Given the description of an element on the screen output the (x, y) to click on. 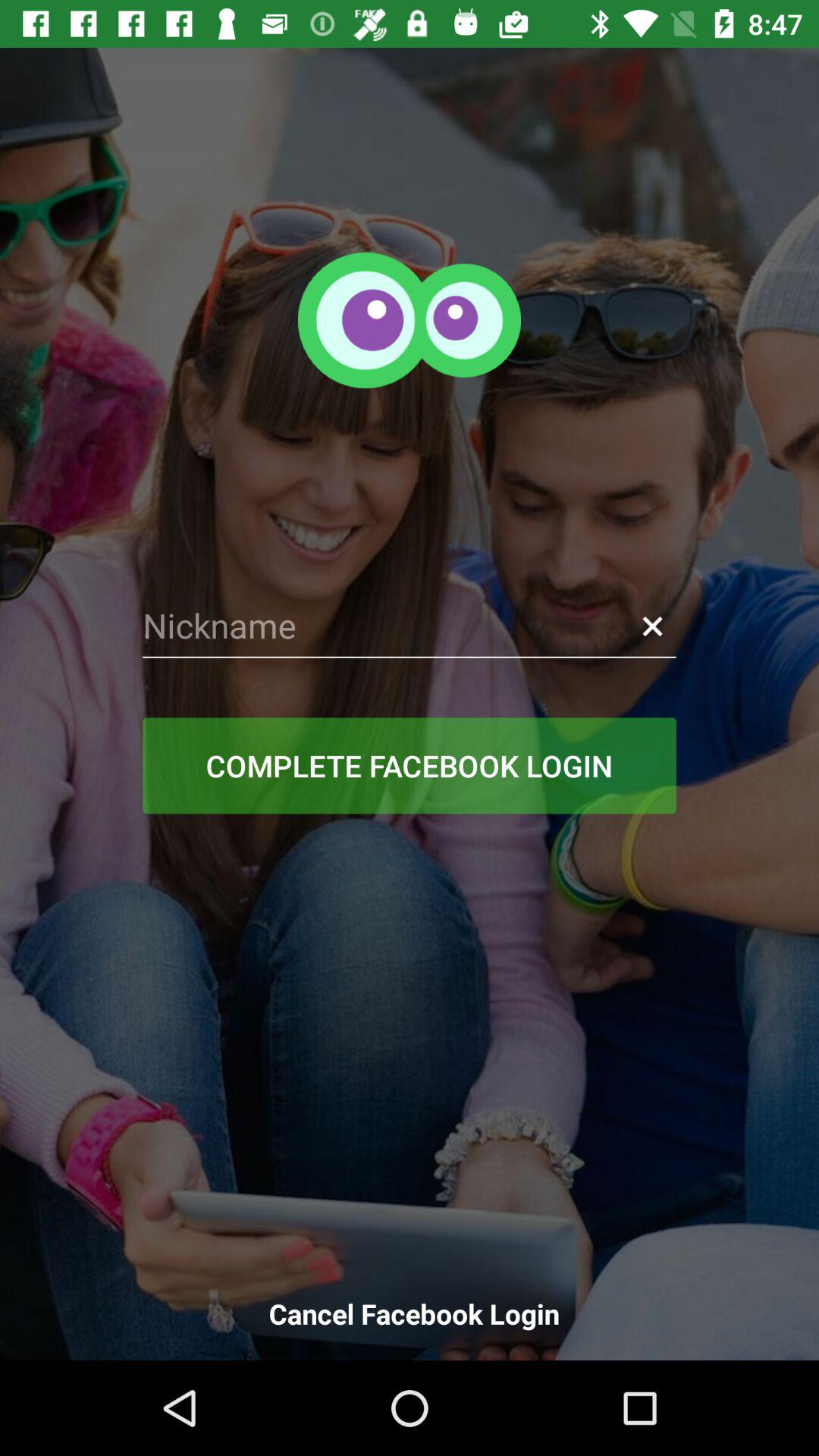
delete name (652, 626)
